Given the description of an element on the screen output the (x, y) to click on. 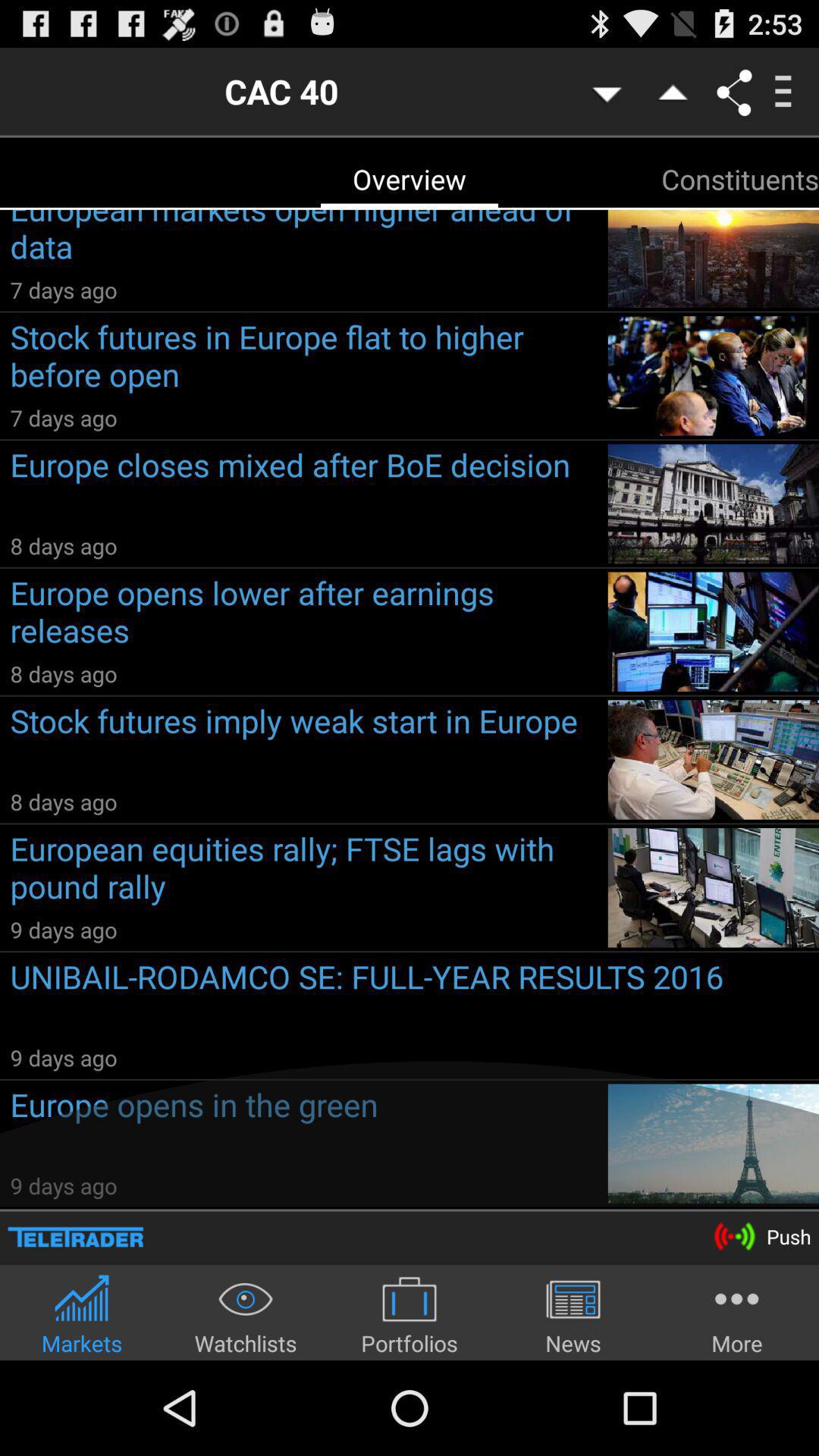
flip until news (573, 1314)
